Given the description of an element on the screen output the (x, y) to click on. 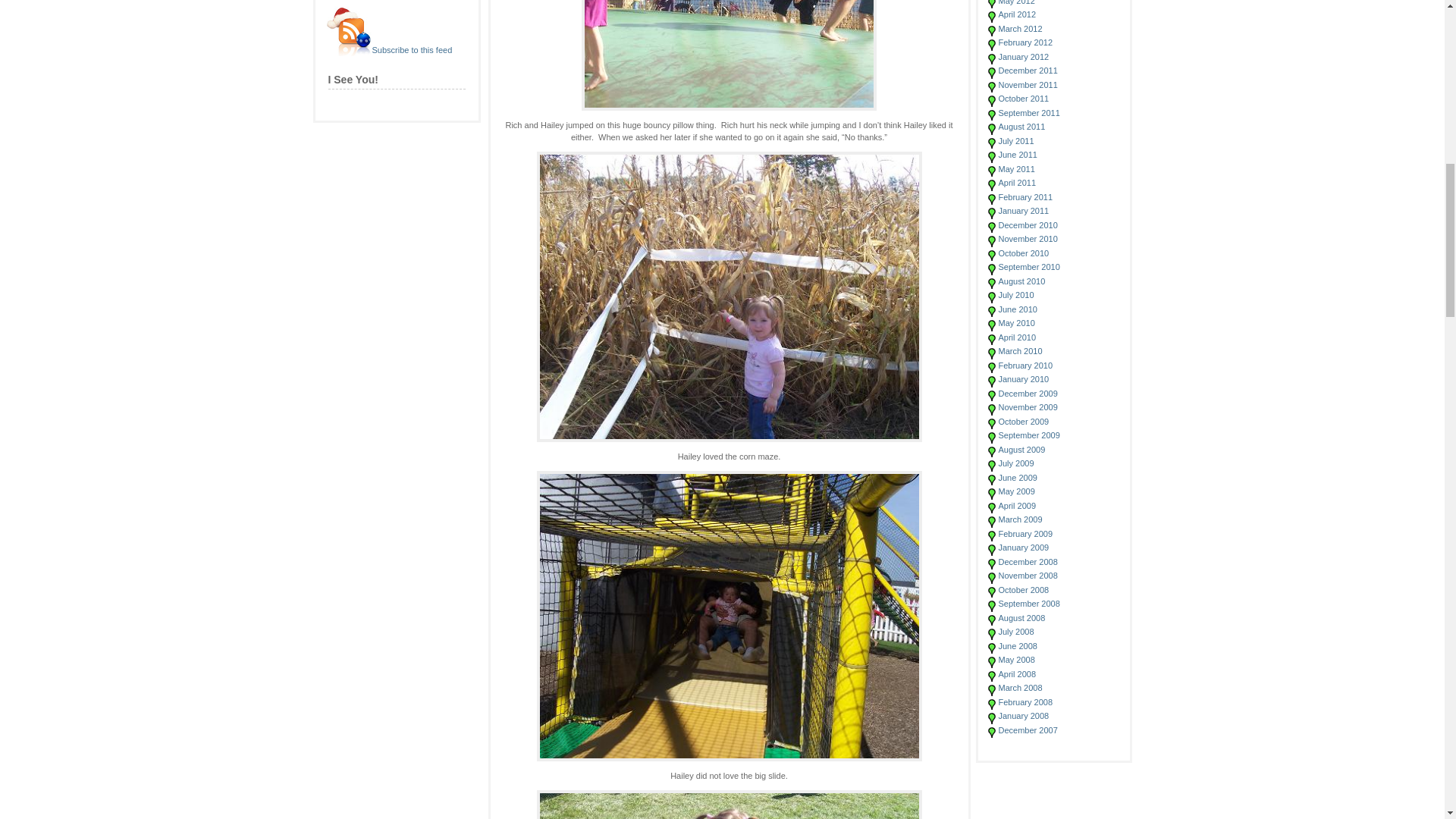
Subscribe to this feed (411, 49)
